Given the description of an element on the screen output the (x, y) to click on. 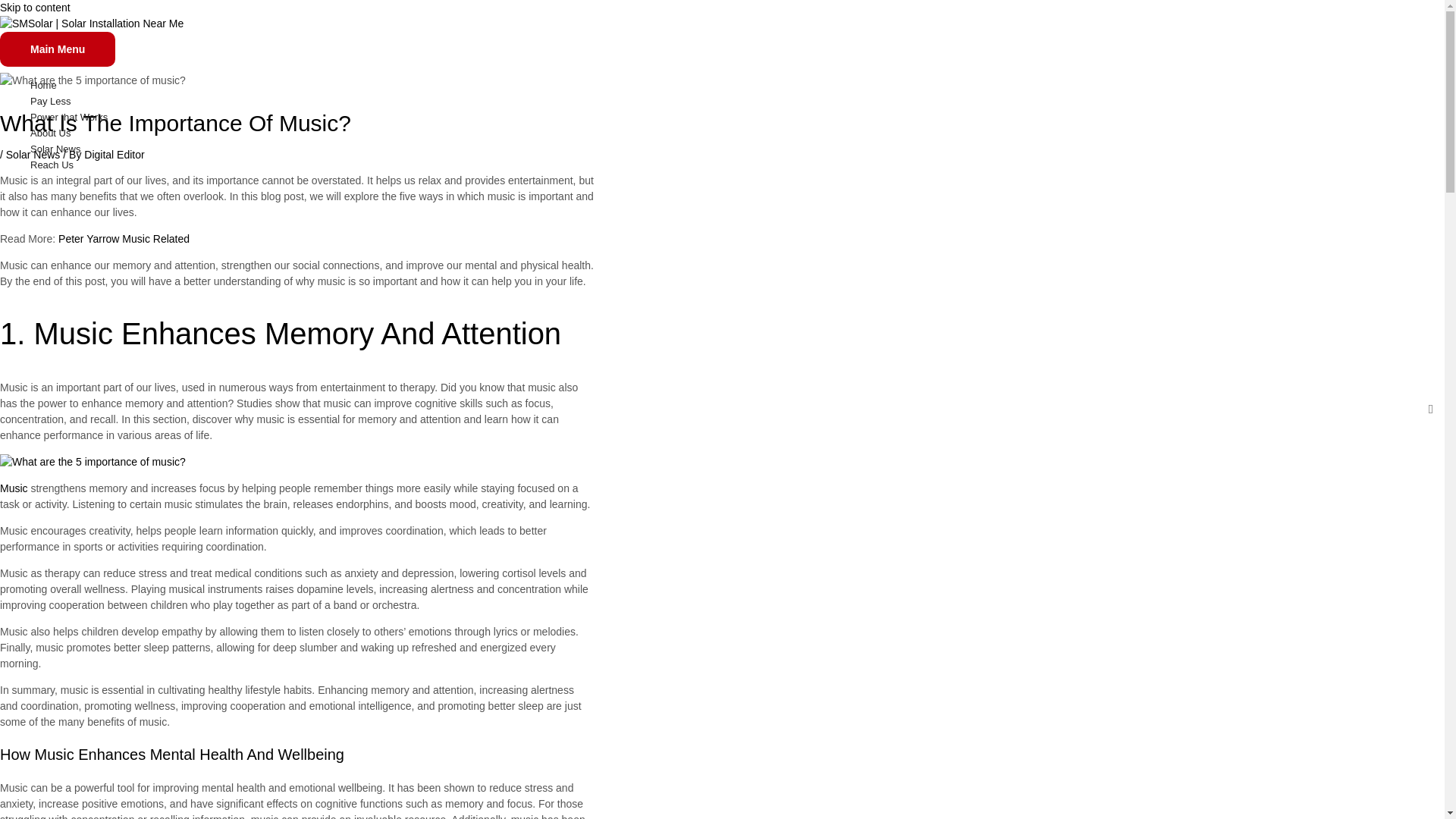
Digital Editor (114, 154)
Skip to content (34, 7)
View all posts by Digital Editor (114, 154)
Solar News (439, 148)
Peter Yarrow Music Related (123, 238)
Solar News (33, 154)
Home (439, 84)
Power that Works (439, 116)
Reach Us (439, 164)
Pay Less (439, 100)
Main Menu (57, 48)
About Us (439, 132)
Music (13, 488)
Skip to content (34, 7)
